Given the description of an element on the screen output the (x, y) to click on. 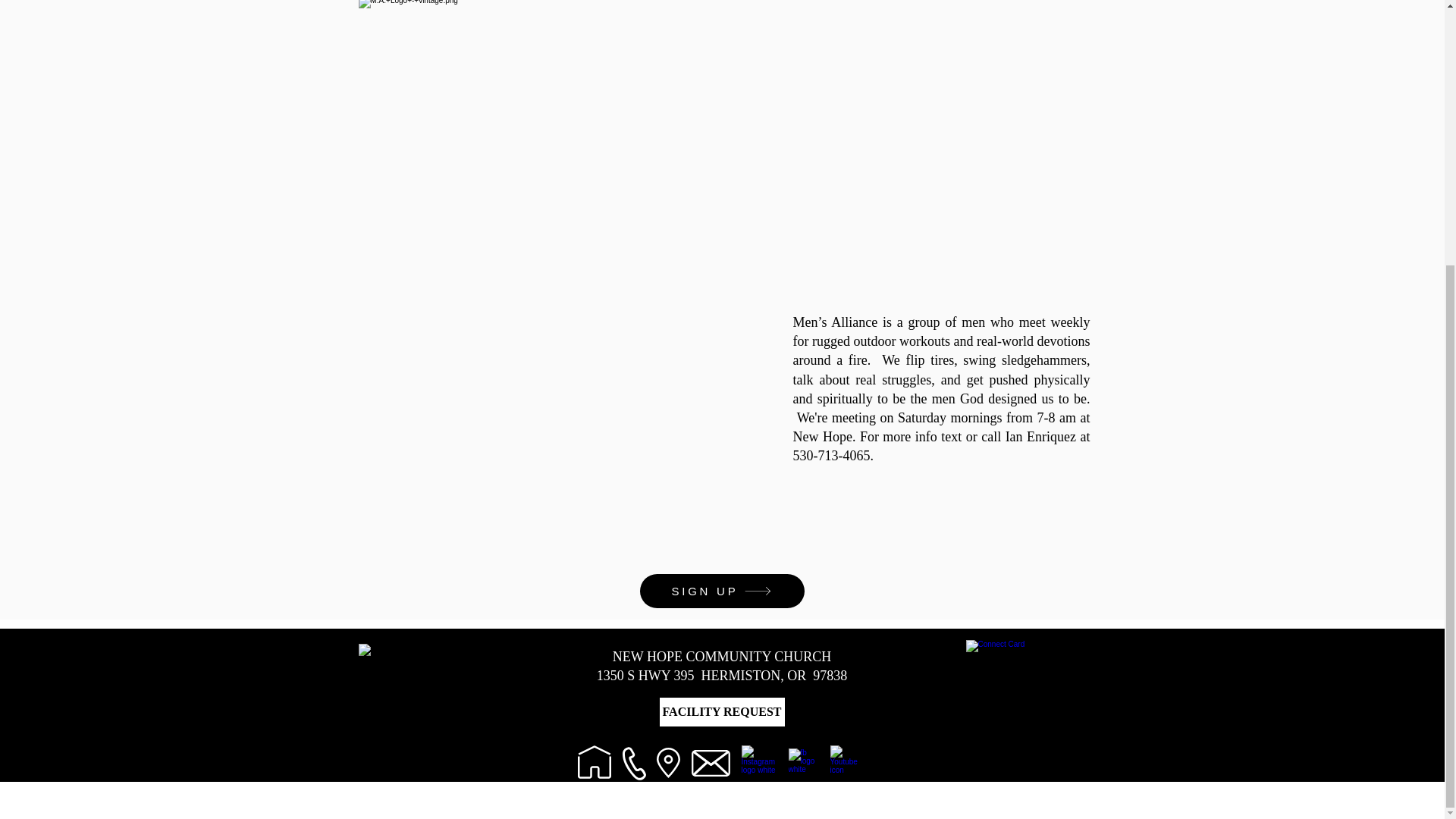
FACILITY REQUEST (721, 711)
SIGN UP (722, 591)
